Given the description of an element on the screen output the (x, y) to click on. 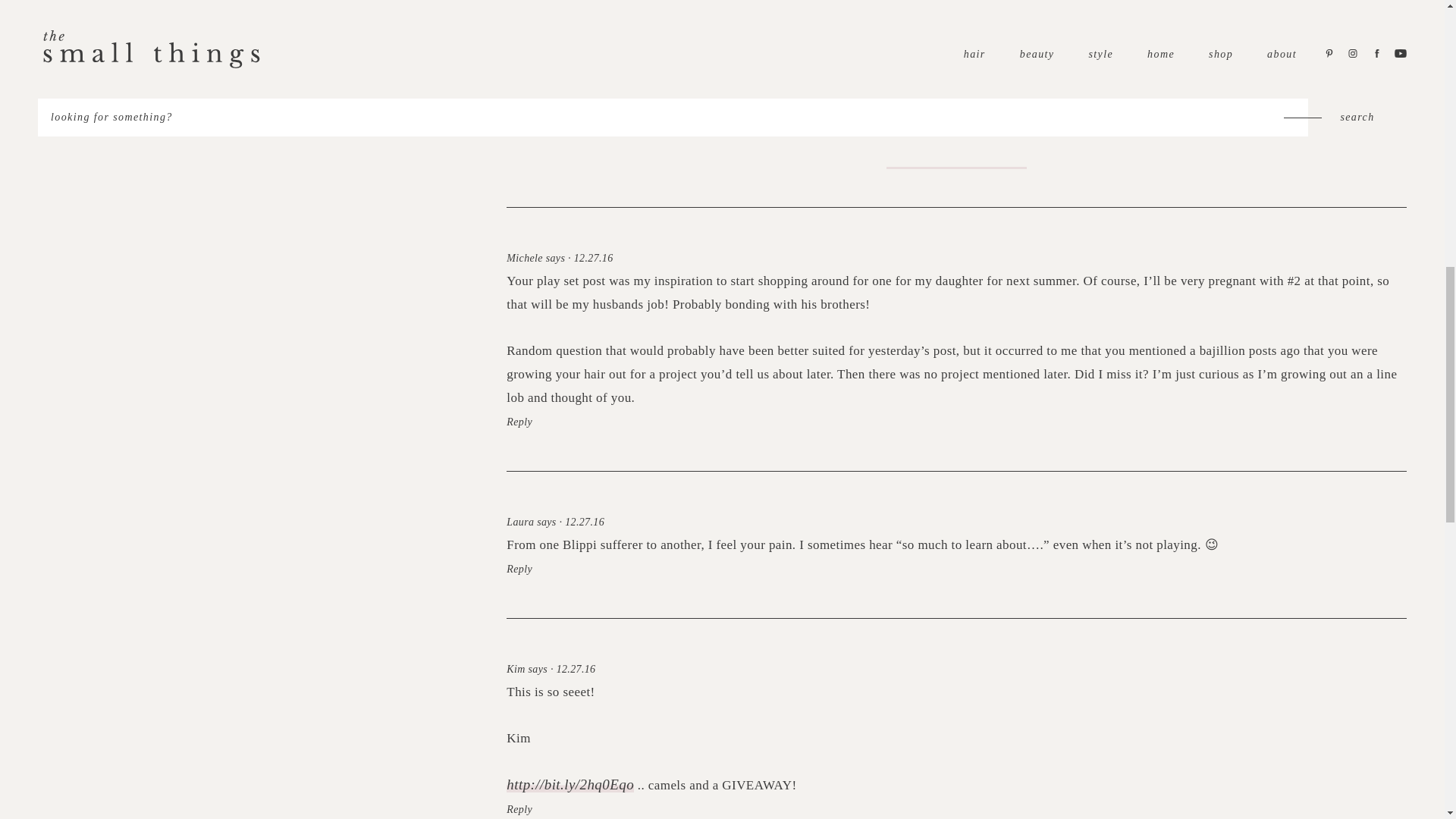
leave a comment (956, 150)
